Given the description of an element on the screen output the (x, y) to click on. 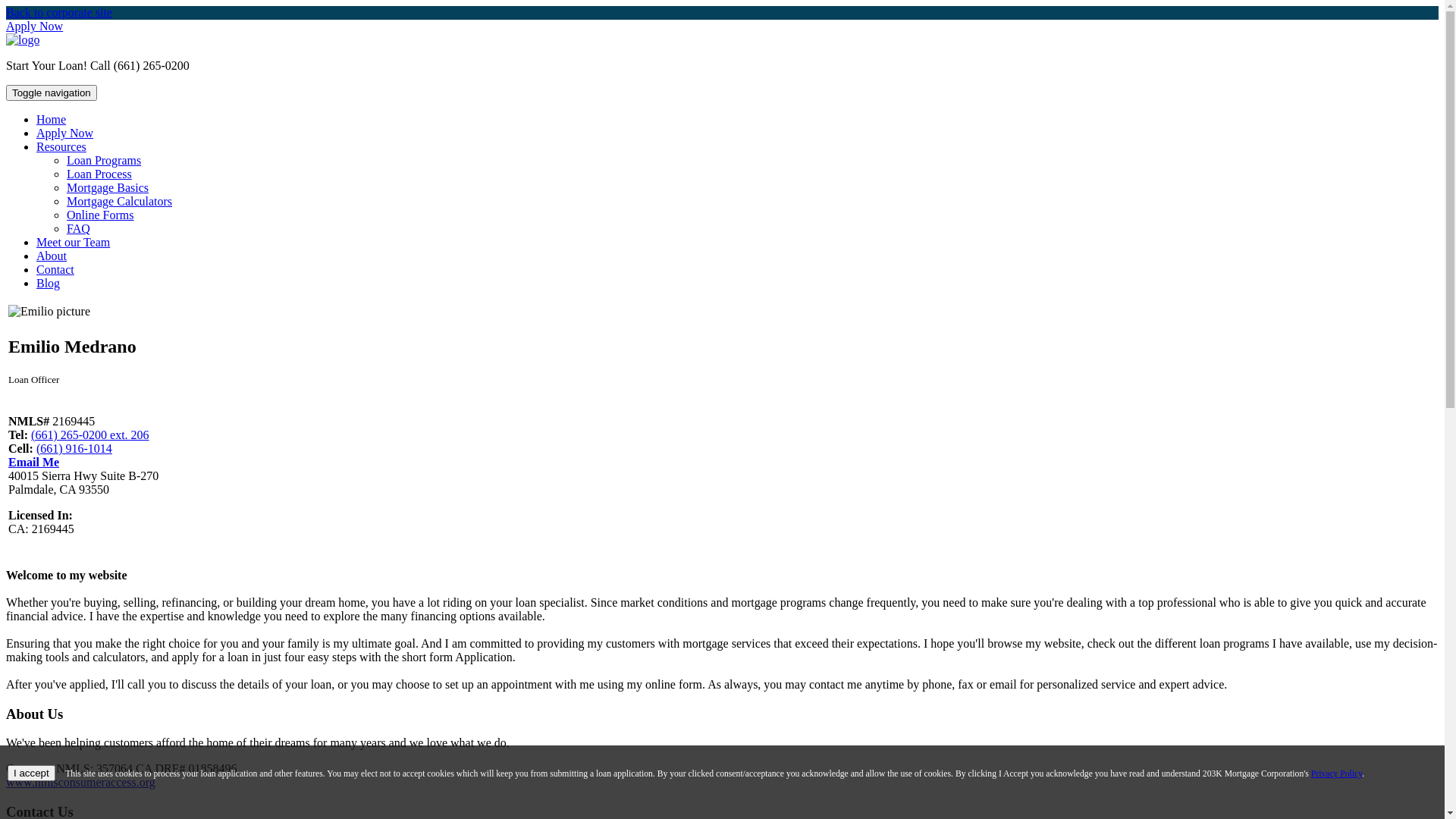
Loan Process Element type: text (98, 173)
FAQ Element type: text (78, 228)
Privacy Policy Element type: text (1336, 773)
Toggle navigation Element type: text (51, 92)
(661) 916-1014 Element type: text (74, 448)
Loan Programs Element type: text (103, 159)
Mortgage Basics Element type: text (107, 187)
www.nmlsconsumeraccess.org Element type: text (80, 781)
Resources Element type: text (61, 146)
Blog Element type: text (47, 282)
(661) 265-0200 ext. 206 Element type: text (90, 434)
Contact Element type: text (55, 269)
Mortgage Calculators Element type: text (119, 200)
About Element type: text (51, 255)
Apply Now Element type: text (64, 132)
Home Element type: text (50, 118)
Meet our Team Element type: text (72, 241)
Email Me Element type: text (33, 461)
I accept Element type: text (31, 773)
Back to corporate site Element type: text (59, 12)
Apply Now Element type: text (34, 25)
Online Forms Element type: text (99, 214)
